Given the description of an element on the screen output the (x, y) to click on. 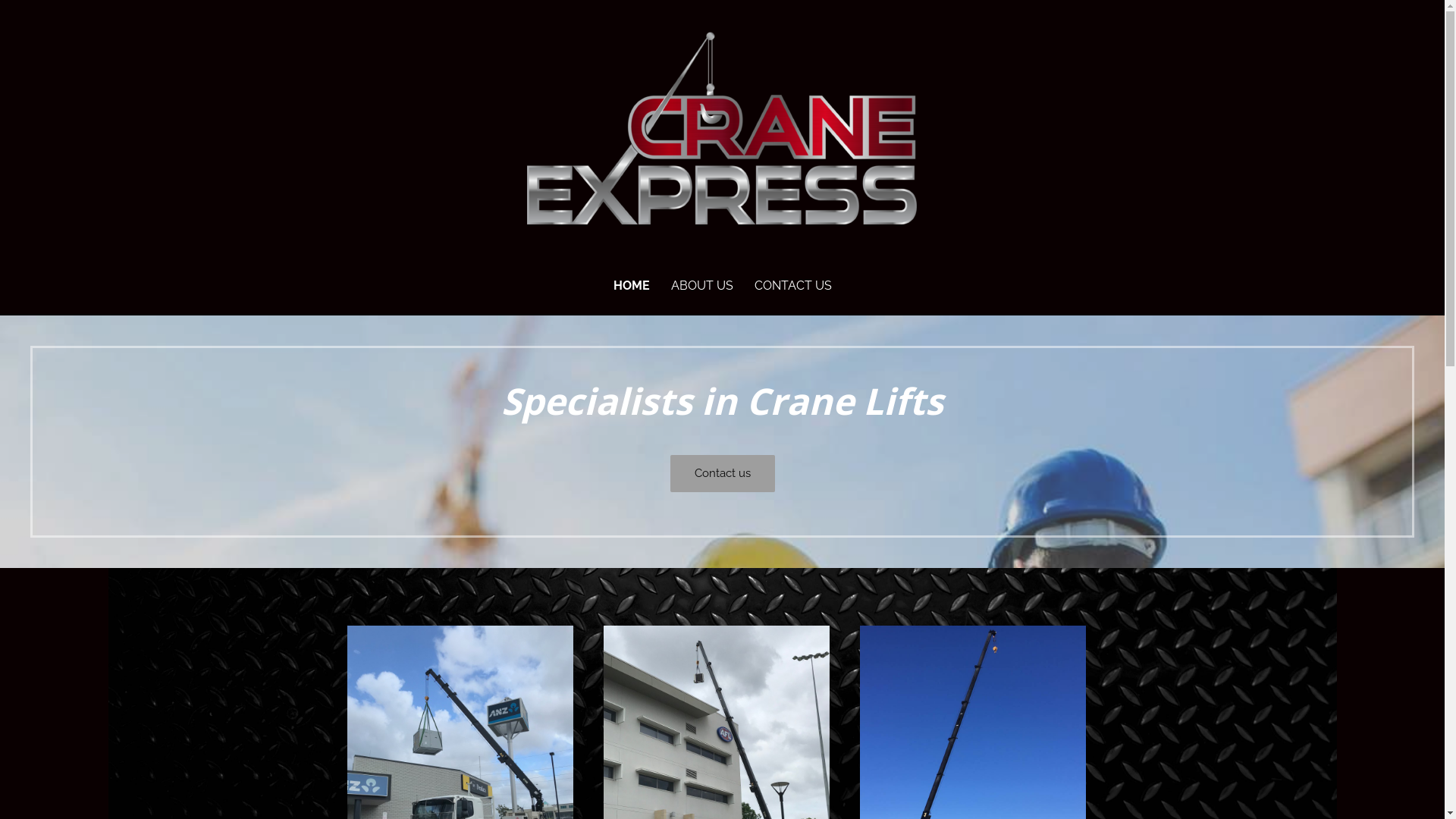
Contact us Element type: text (722, 473)
HOME Element type: text (630, 286)
CONTACT US Element type: text (792, 286)
ABOUT US Element type: text (701, 286)
